Given the description of an element on the screen output the (x, y) to click on. 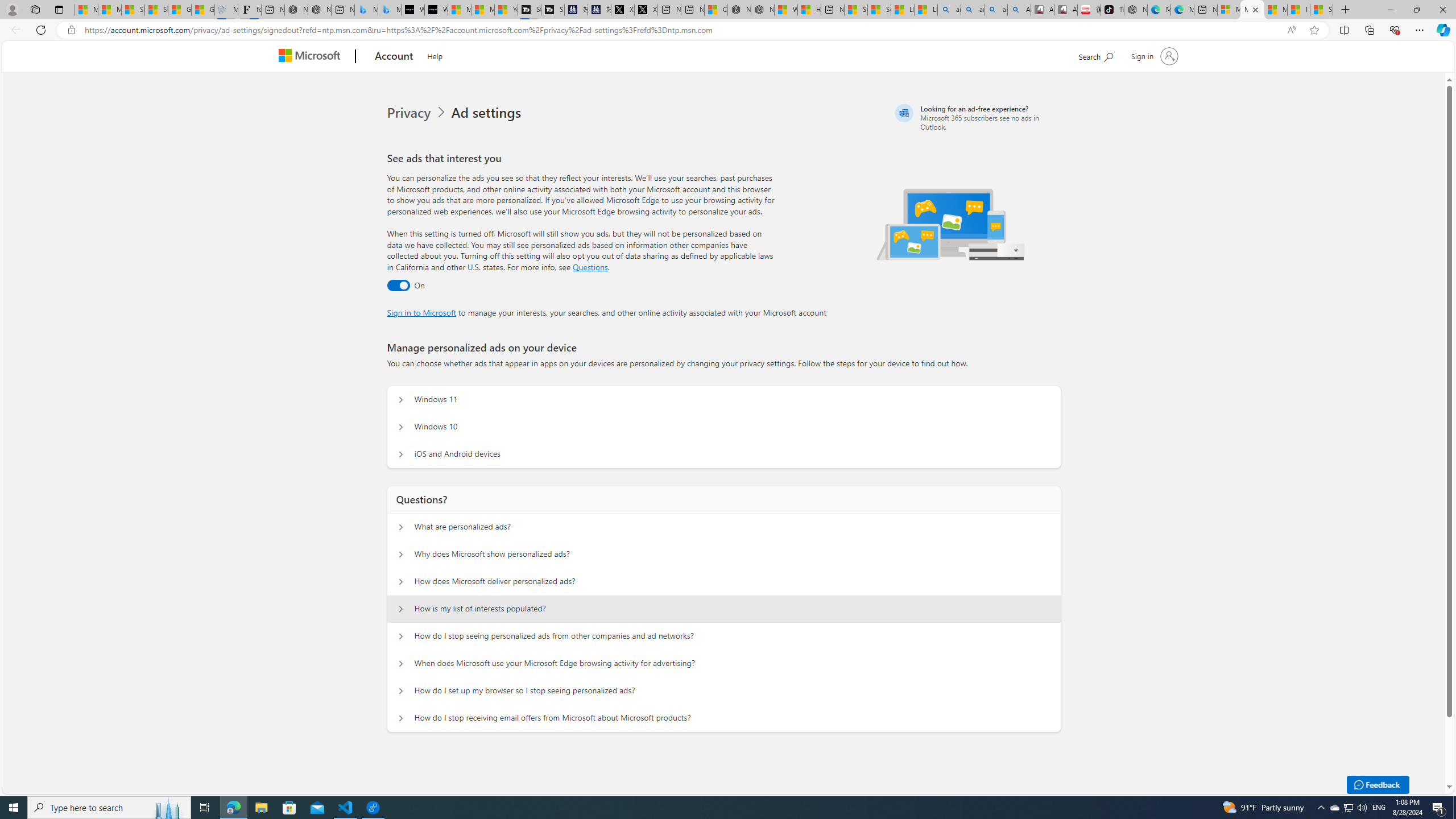
Questions? Why does Microsoft show personalized ads? (401, 554)
Go to Questions section (590, 266)
Search Microsoft.com (1095, 54)
Questions? How is my list of interests populated? (401, 608)
Account (394, 56)
Questions? How does Microsoft deliver personalized ads? (401, 581)
